Given the description of an element on the screen output the (x, y) to click on. 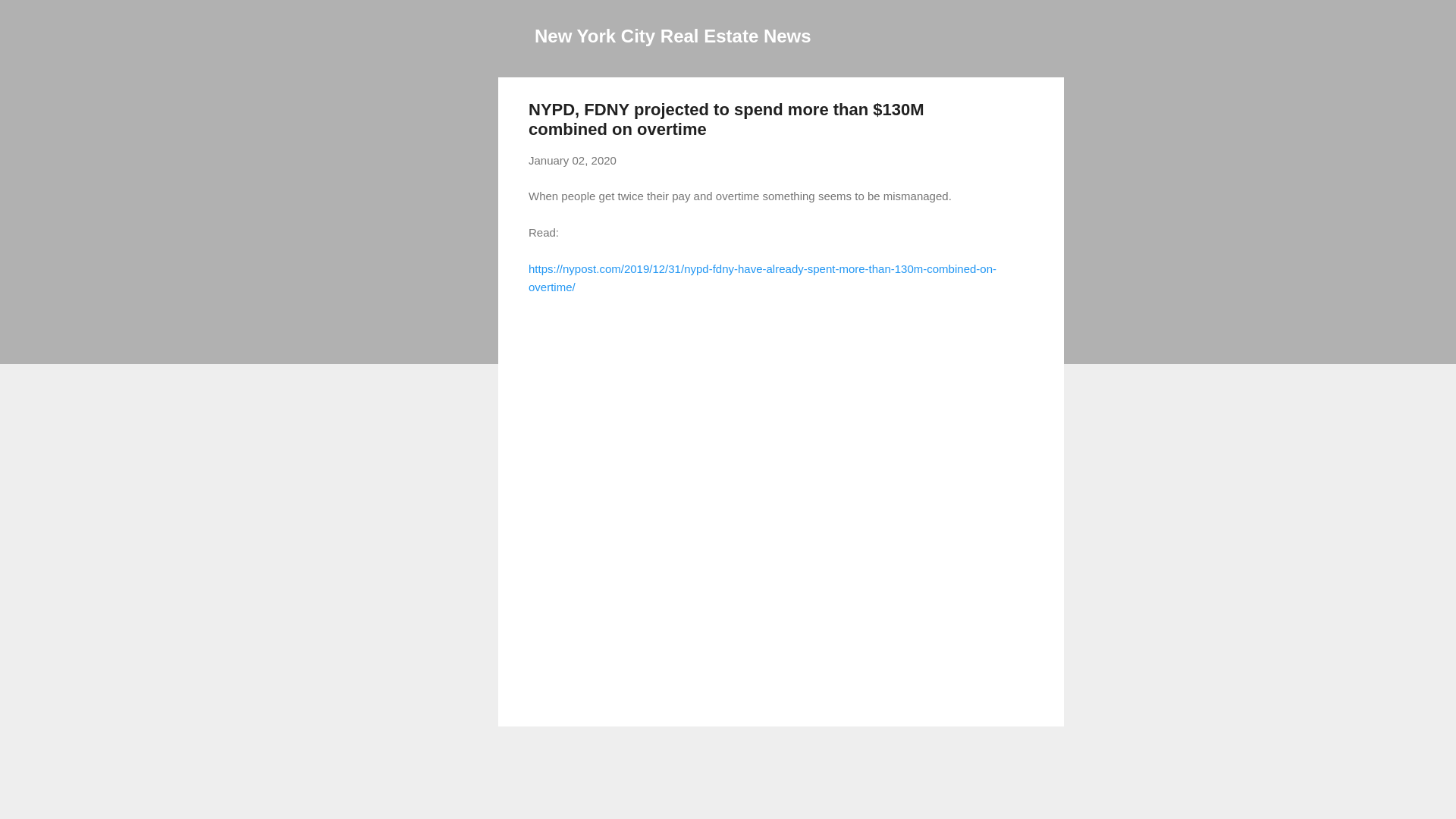
New York City Real Estate News (672, 35)
Search (29, 18)
permanent link (571, 160)
January 02, 2020 (571, 160)
